Given the description of an element on the screen output the (x, y) to click on. 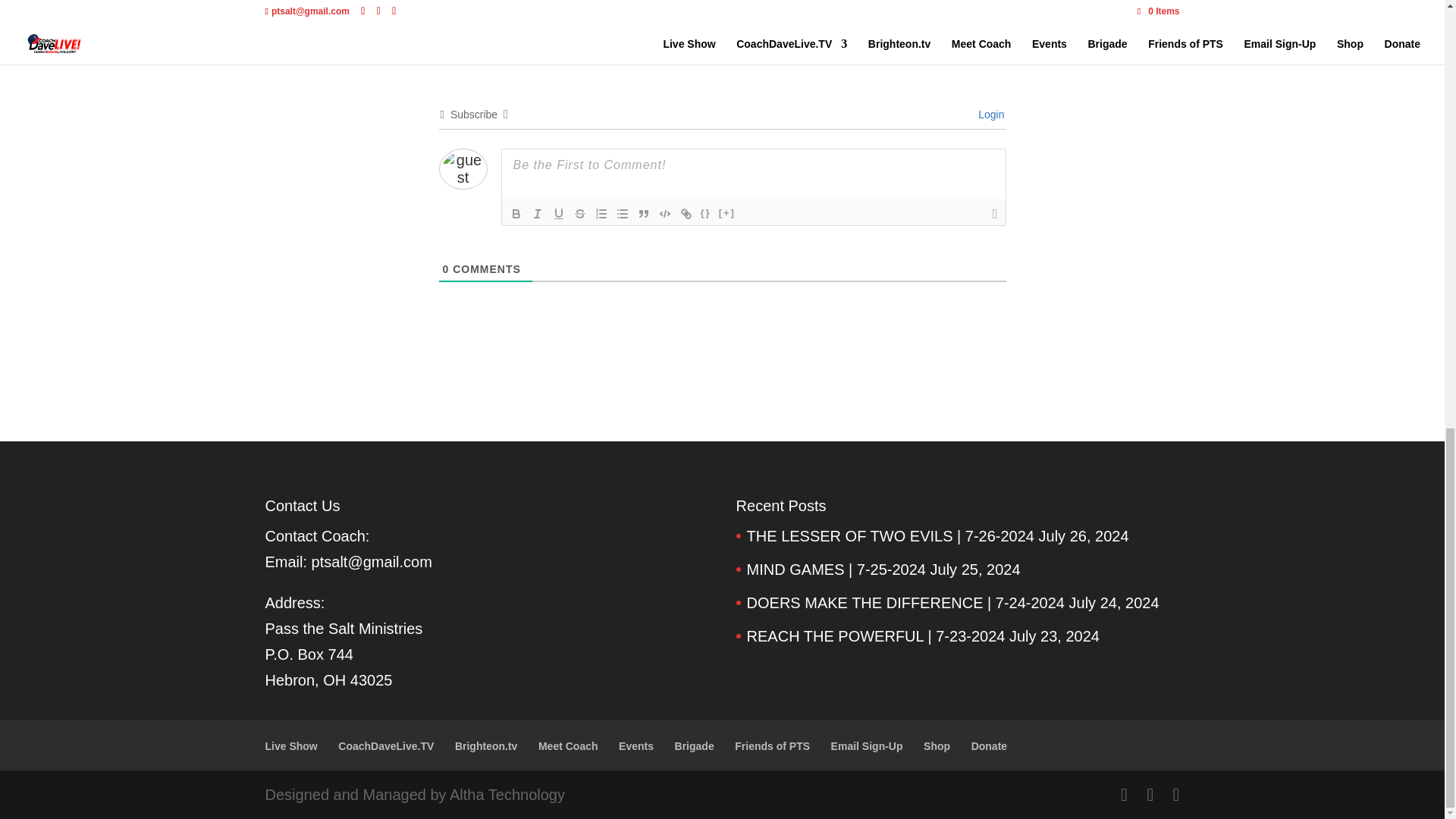
Underline (558, 213)
Code Block (664, 213)
Blockquote (642, 213)
Strike (579, 213)
Ordered List (600, 213)
Italic (536, 213)
Link (685, 213)
Source Code (704, 213)
Bold (515, 213)
Unordered List (621, 213)
Spoiler (726, 213)
